Given the description of an element on the screen output the (x, y) to click on. 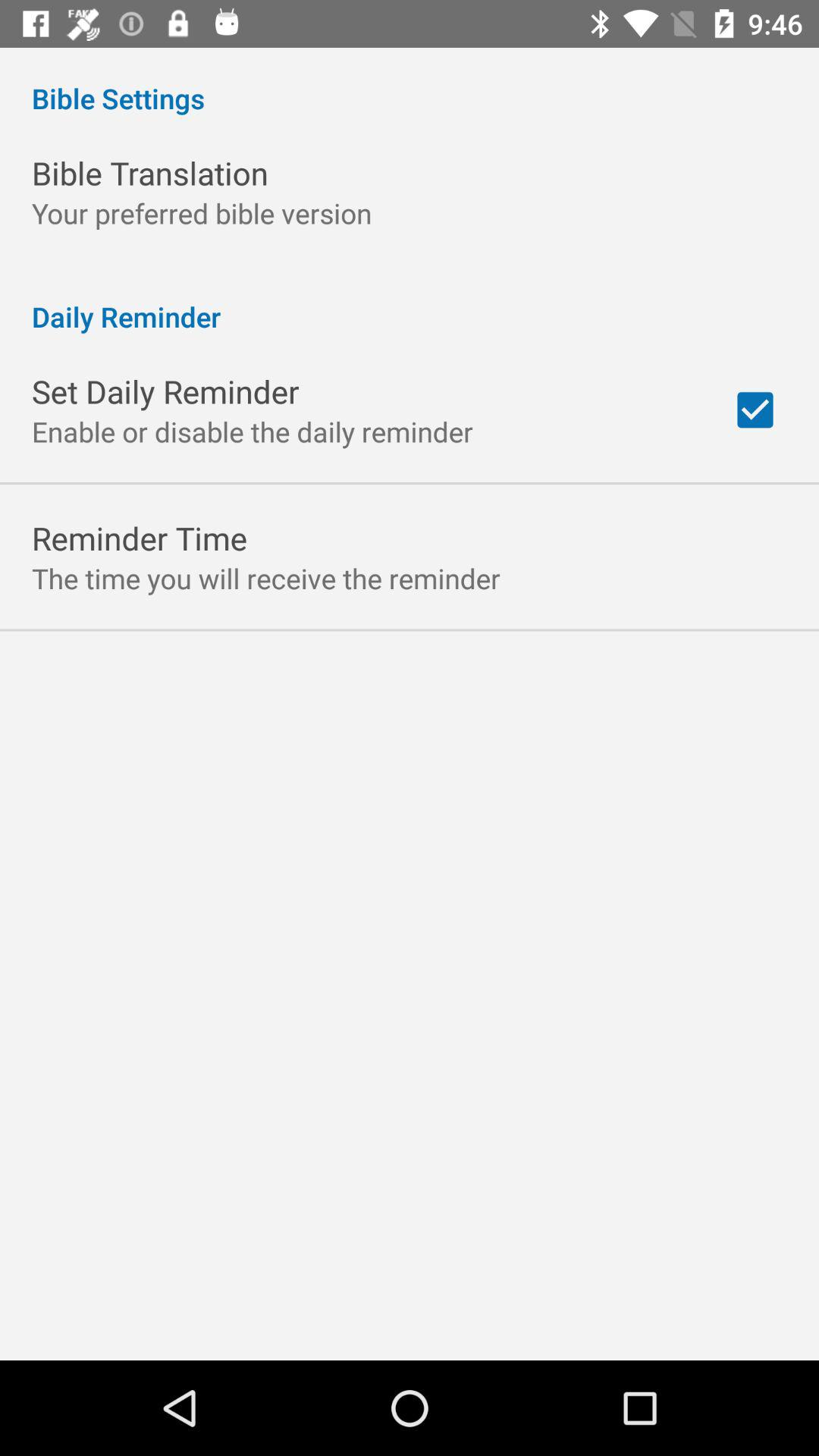
choose app next to enable or disable (755, 409)
